Given the description of an element on the screen output the (x, y) to click on. 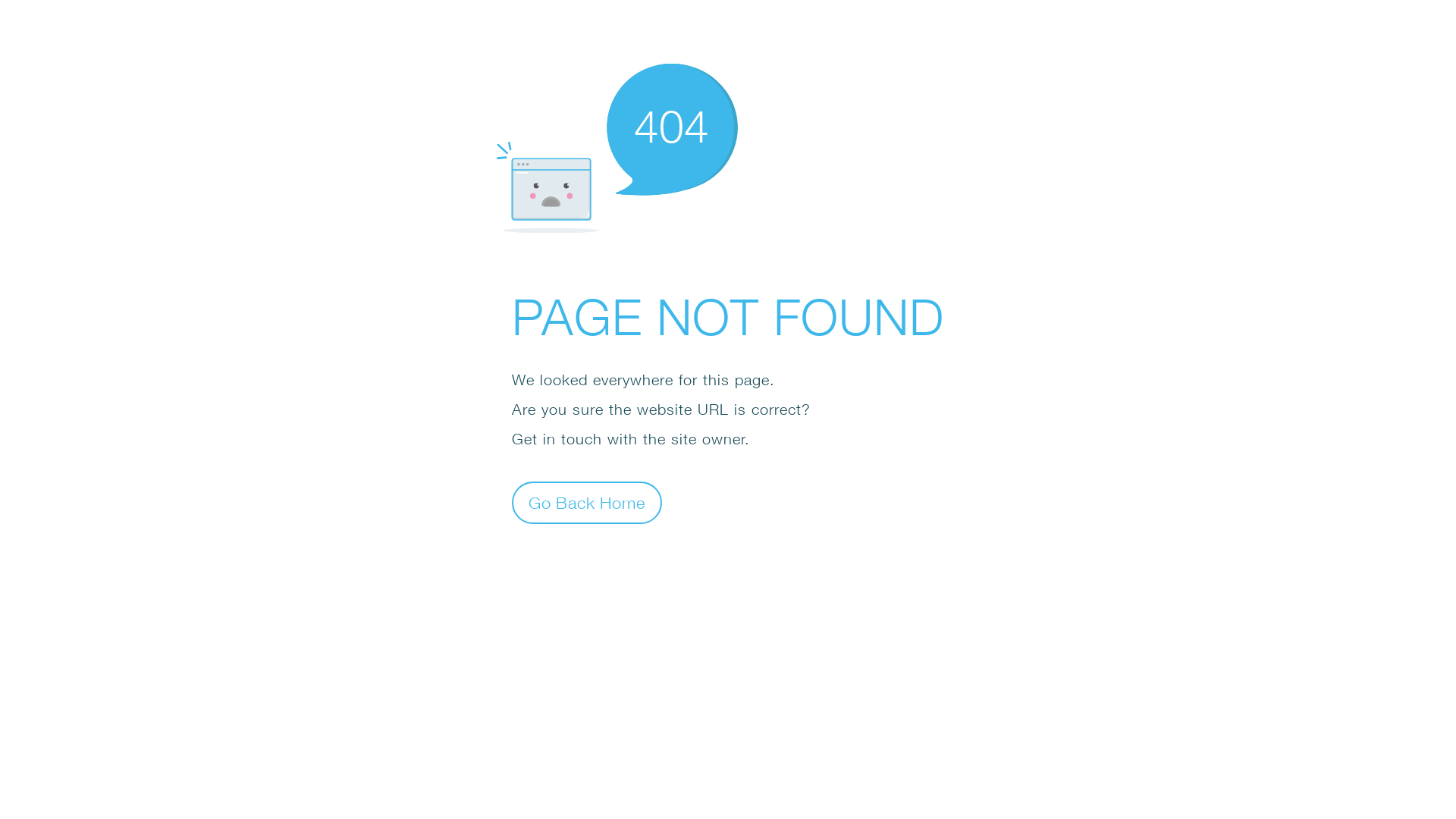
Go Back Home Element type: text (586, 502)
